Given the description of an element on the screen output the (x, y) to click on. 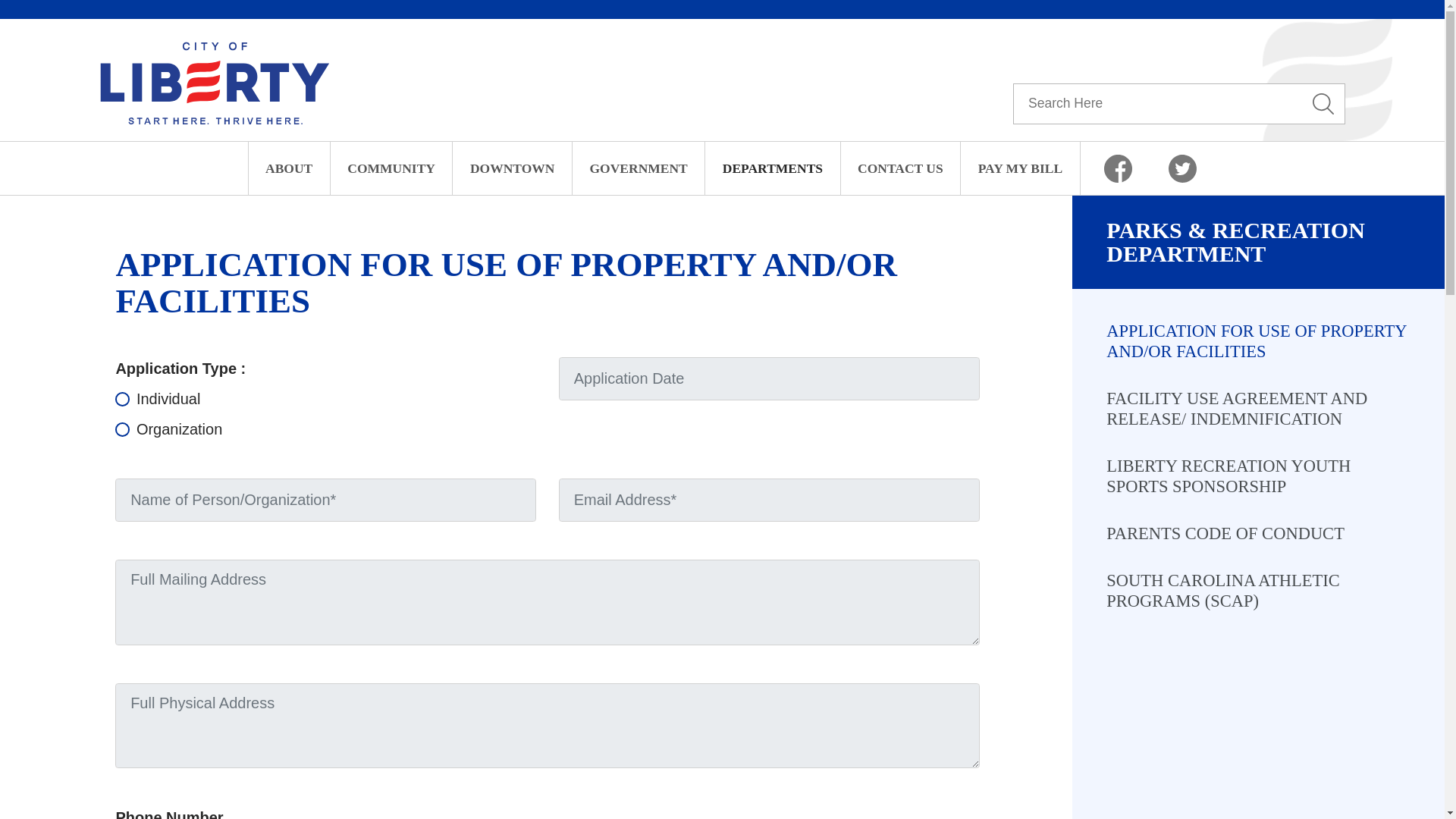
COMMUNITY (391, 167)
Search (1324, 103)
DEPARTMENTS (772, 167)
CONTACT US (900, 167)
City of Liberty (214, 81)
DOWNTOWN (512, 167)
GOVERNMENT (638, 167)
ABOUT (289, 167)
PAY MY BILL (1020, 167)
Search (1324, 103)
